Given the description of an element on the screen output the (x, y) to click on. 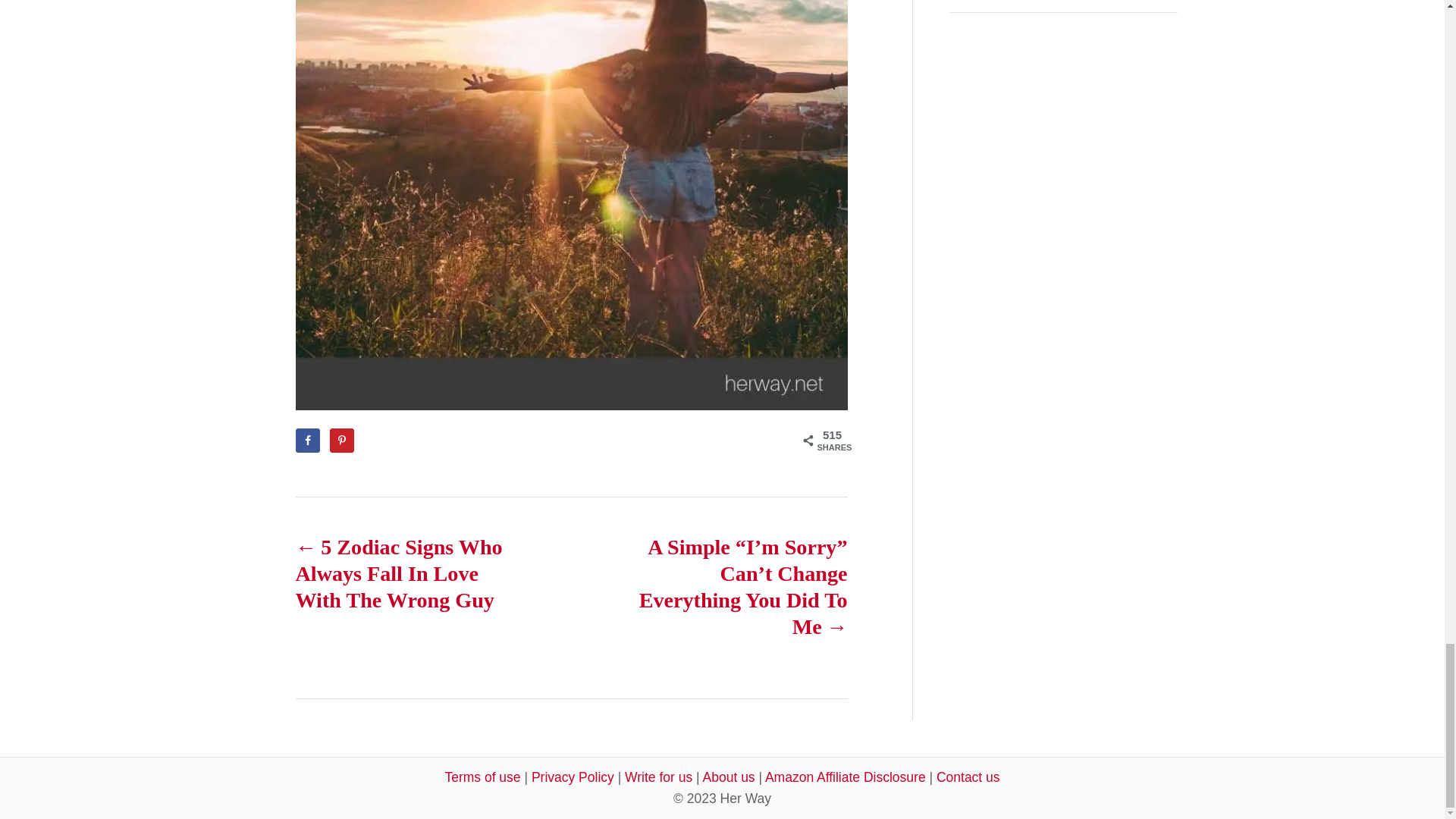
Share on Facebook (307, 440)
Save to Pinterest (341, 440)
